Given the description of an element on the screen output the (x, y) to click on. 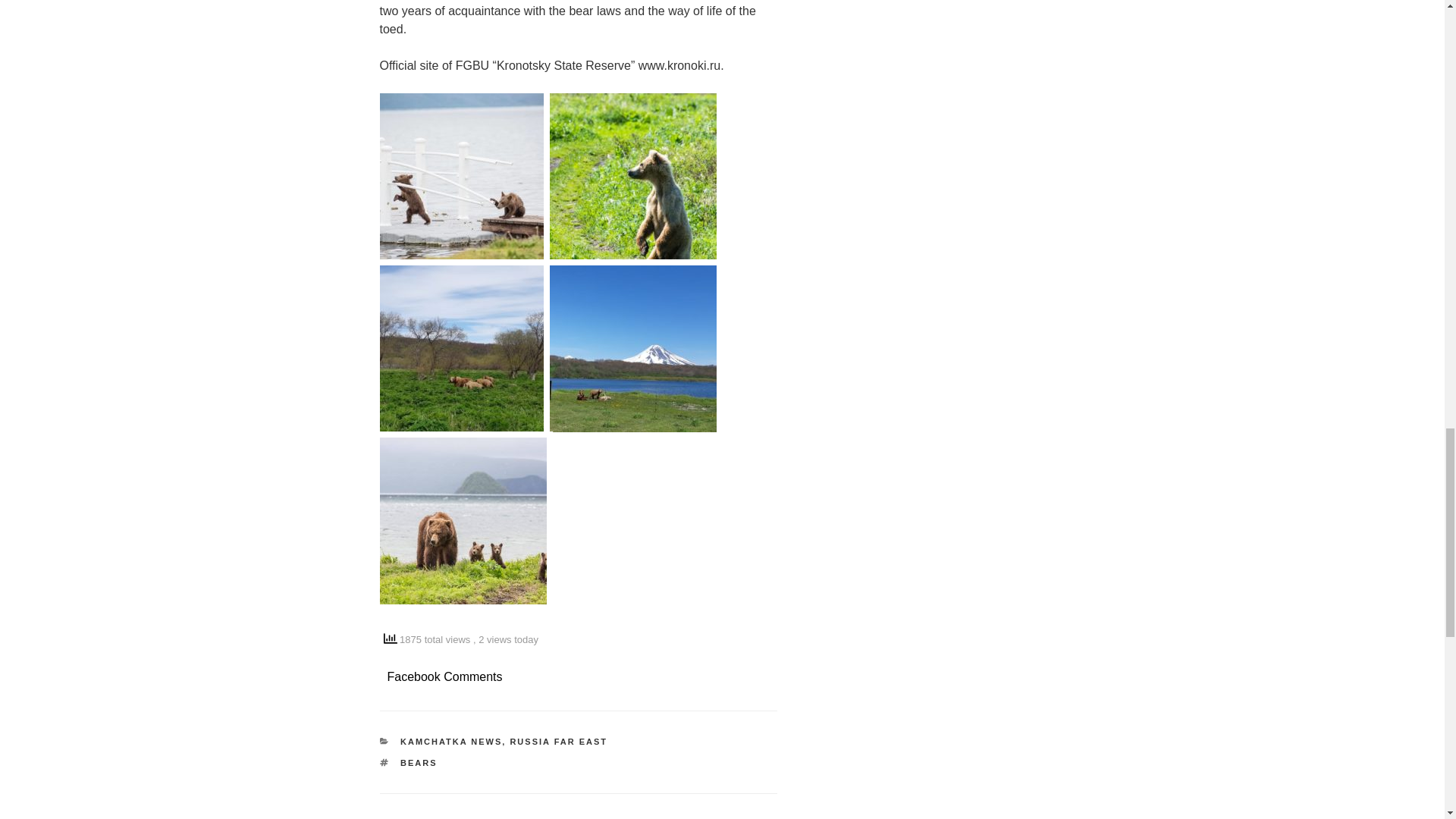
KAMCHATKA NEWS, RUSSIA FAR EAST (503, 741)
BEARS (419, 762)
